Given the description of an element on the screen output the (x, y) to click on. 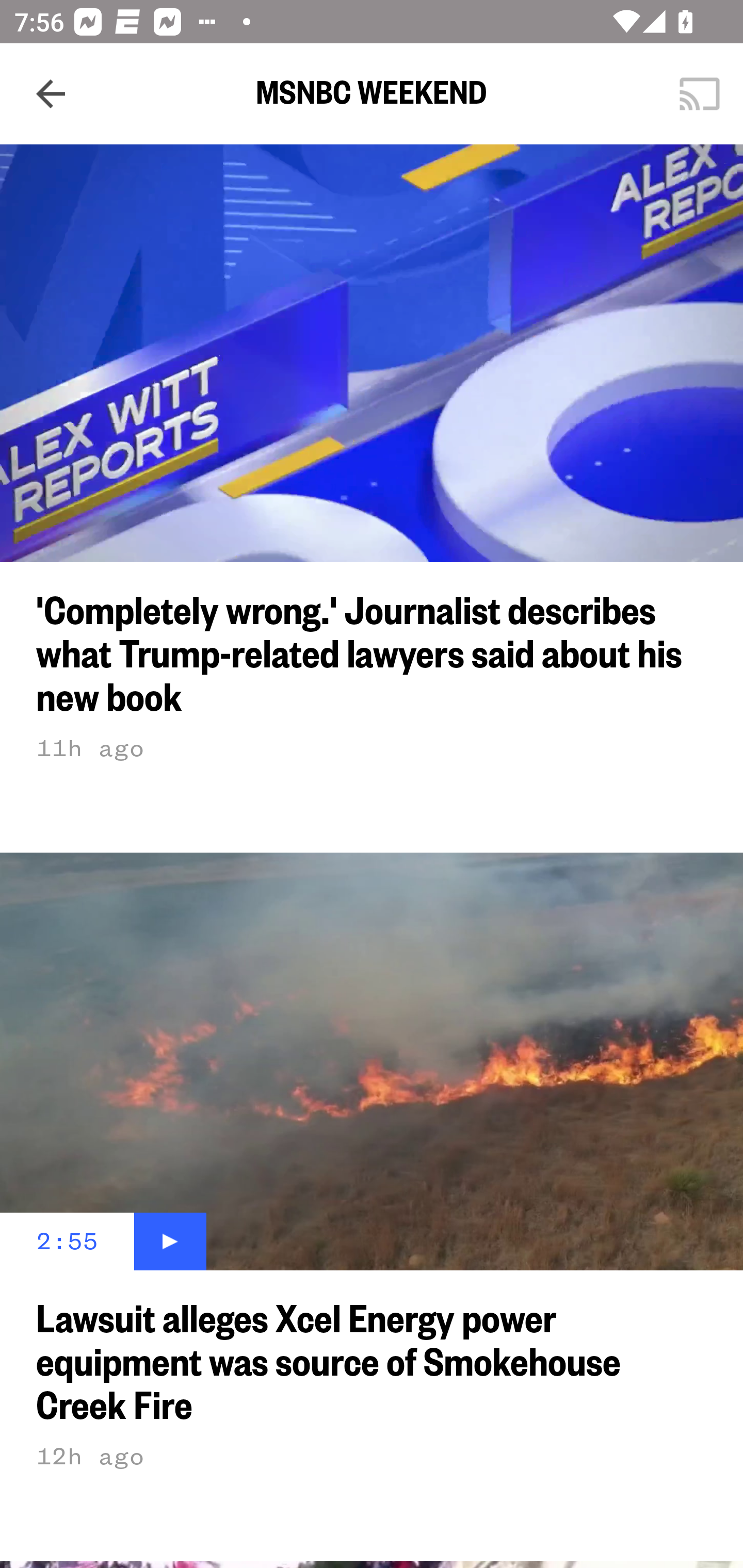
Navigate up (50, 93)
Cast. Disconnected (699, 93)
